Given the description of an element on the screen output the (x, y) to click on. 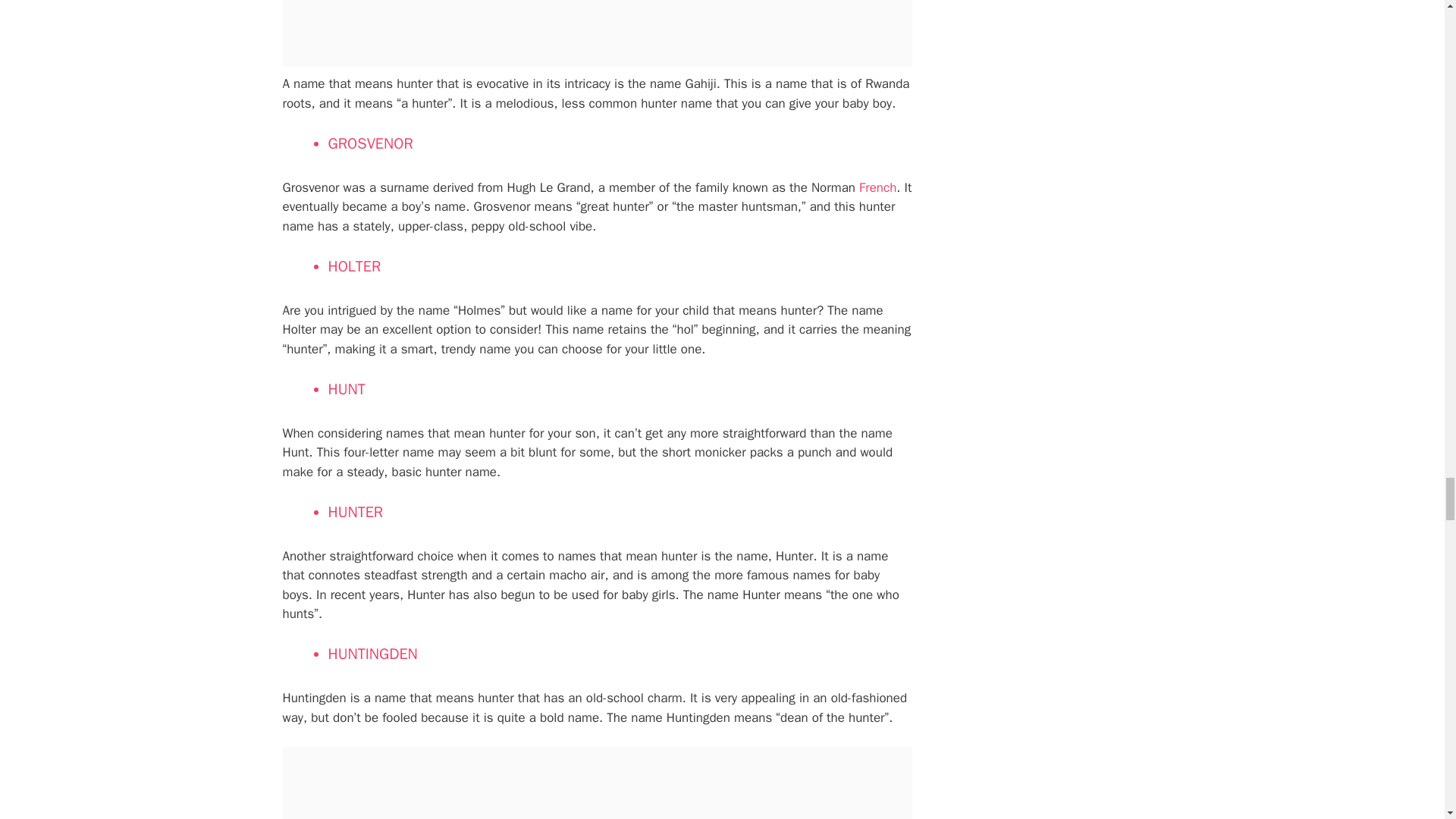
French (877, 187)
